Given the description of an element on the screen output the (x, y) to click on. 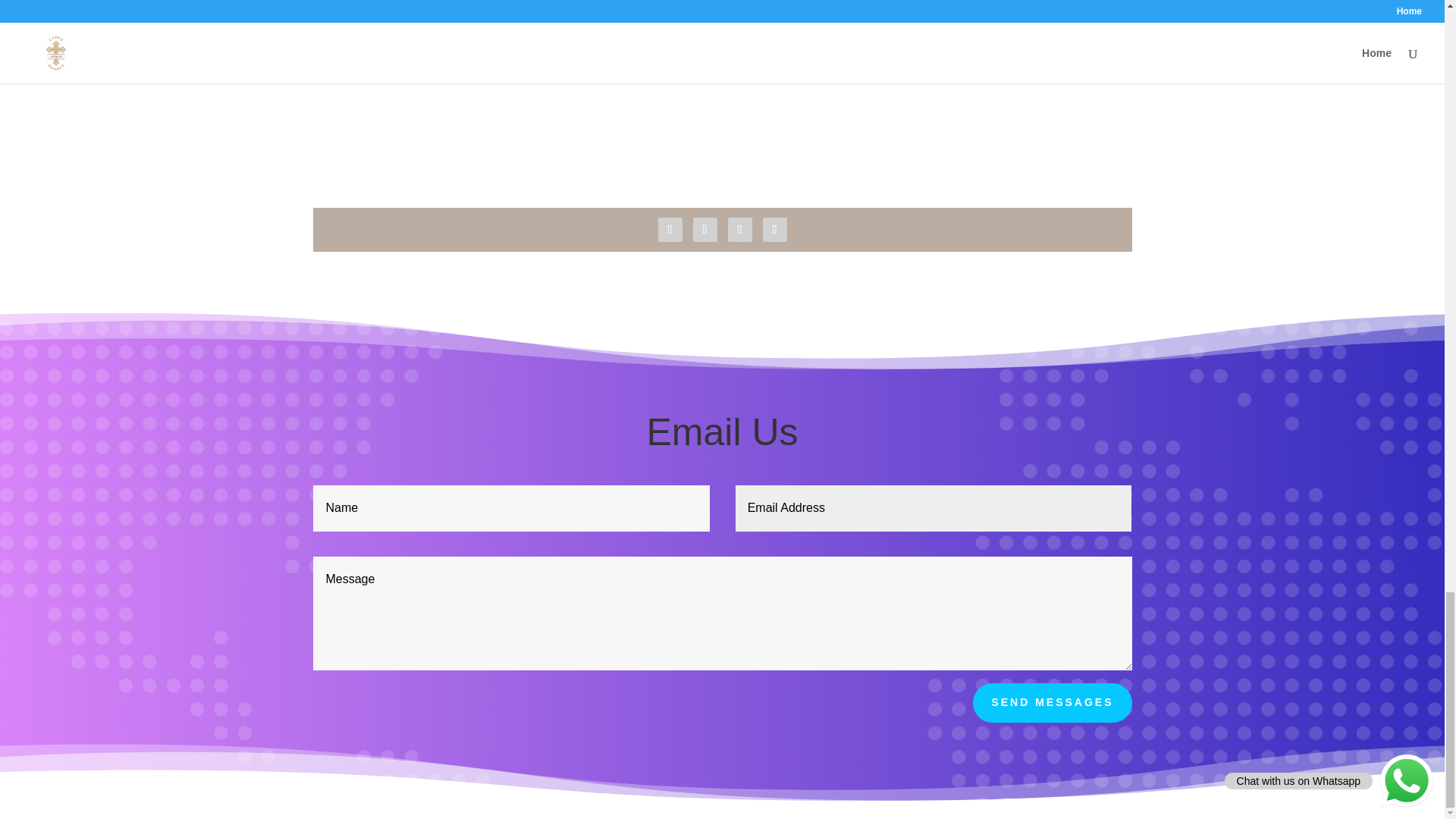
SEND MESSAGES (1051, 702)
Follow on Facebook (670, 229)
Follow on Youtube (740, 229)
Follow on Twitter (705, 229)
Follow on Instagram (774, 229)
